Given the description of an element on the screen output the (x, y) to click on. 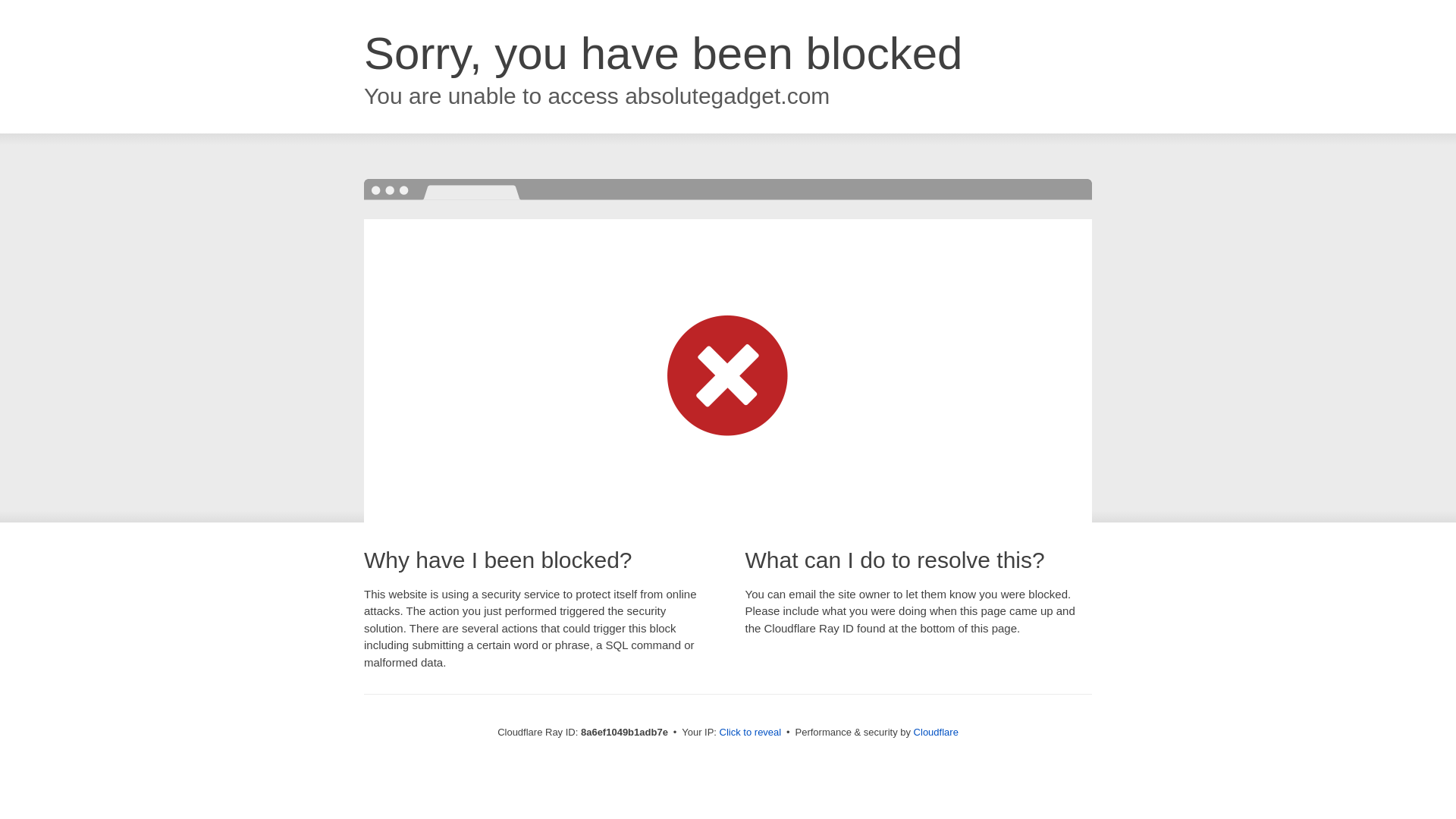
Cloudflare (936, 731)
Click to reveal (750, 732)
